Given the description of an element on the screen output the (x, y) to click on. 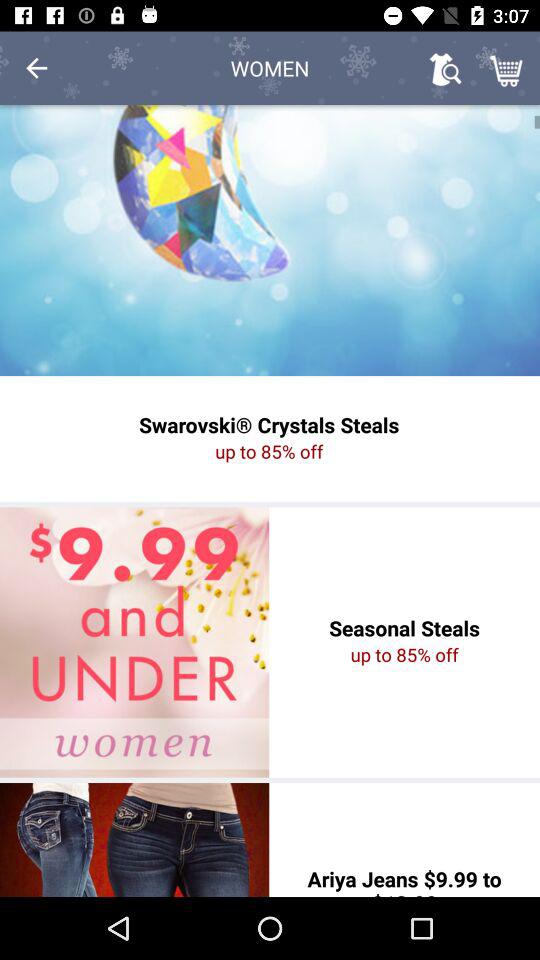
choose the item next to women icon (444, 67)
